Given the description of an element on the screen output the (x, y) to click on. 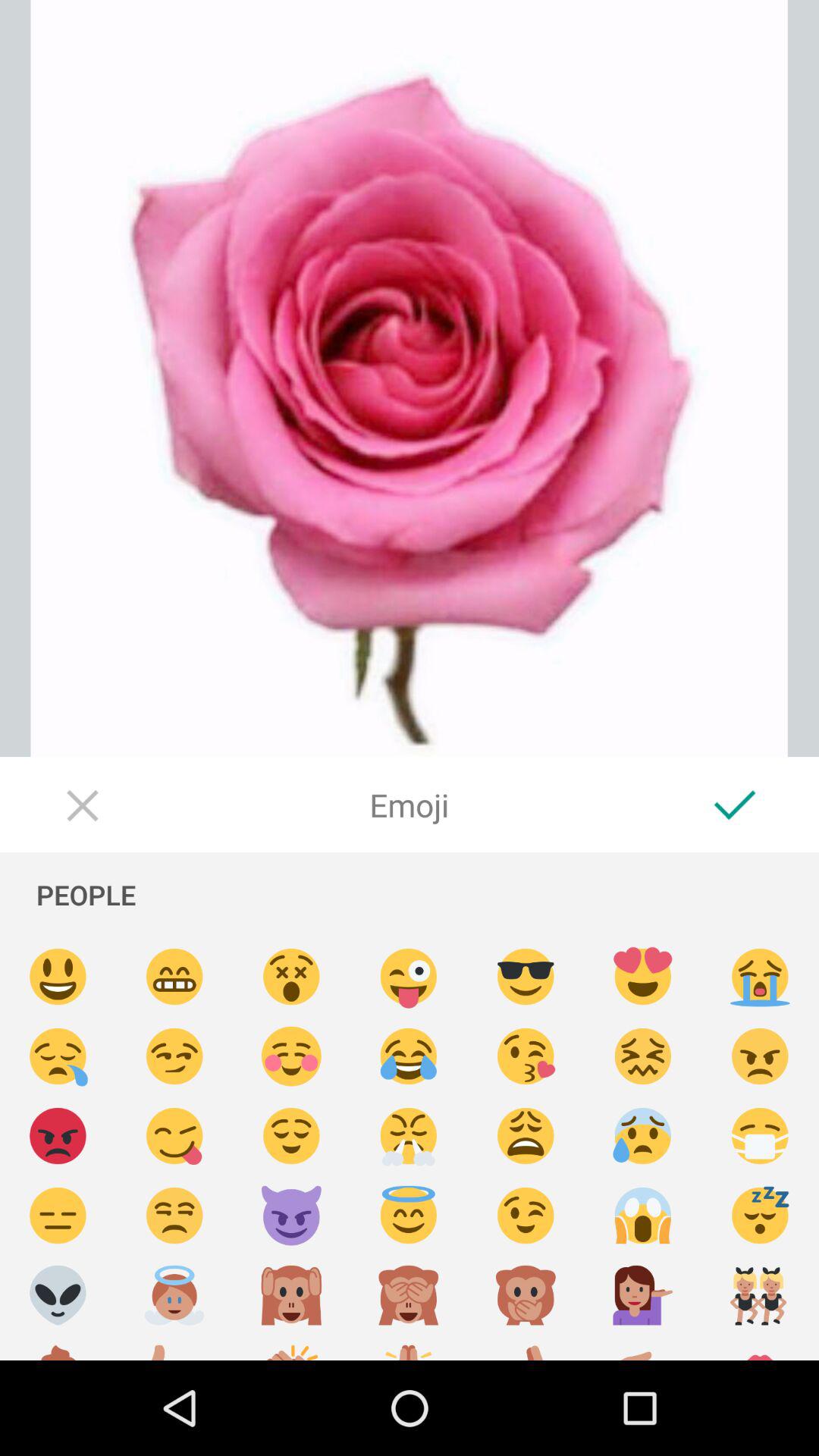
select emoji (58, 1056)
